Given the description of an element on the screen output the (x, y) to click on. 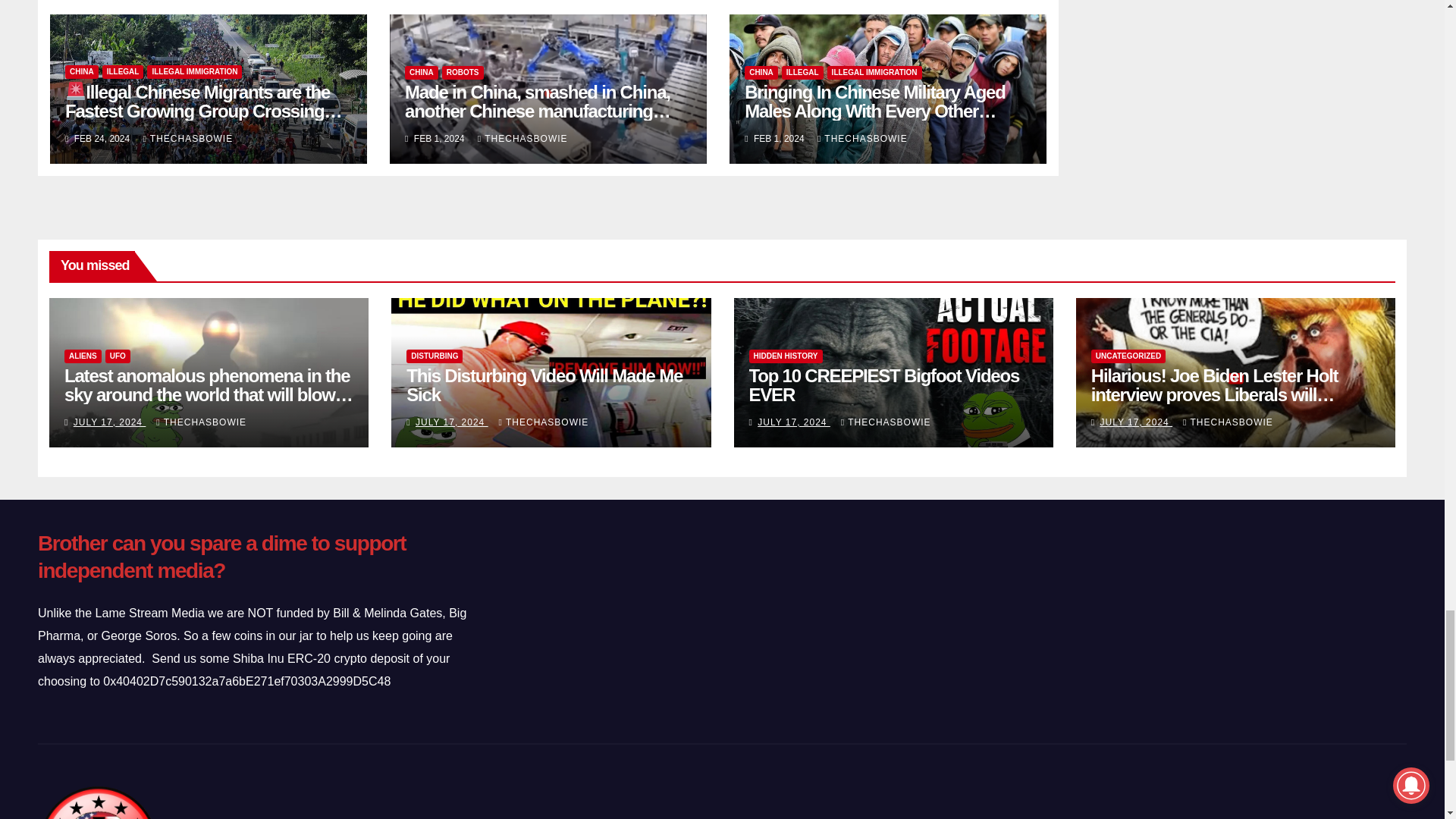
ILLEGAL IMMIGRATION (194, 71)
ROBOTS (462, 72)
THECHASBOWIE (187, 138)
CHINA (421, 72)
Permalink to: This Disturbing Video Will Made Me Sick (544, 384)
Permalink to: Top 10 CREEPIEST Bigfoot Videos EVER (884, 384)
ILLEGAL (122, 71)
CHINA (82, 71)
